Given the description of an element on the screen output the (x, y) to click on. 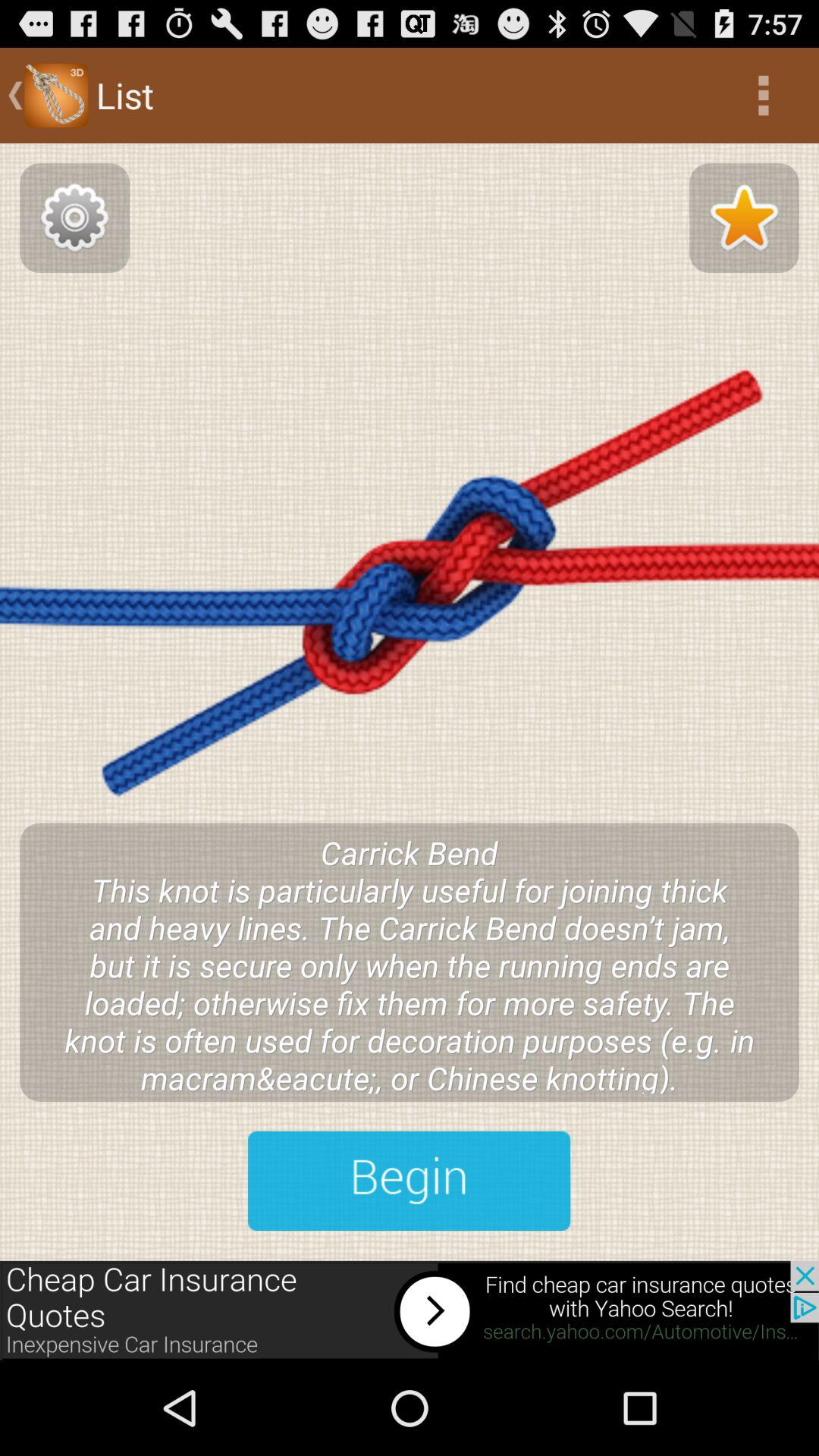
add to favorites (744, 218)
